Given the description of an element on the screen output the (x, y) to click on. 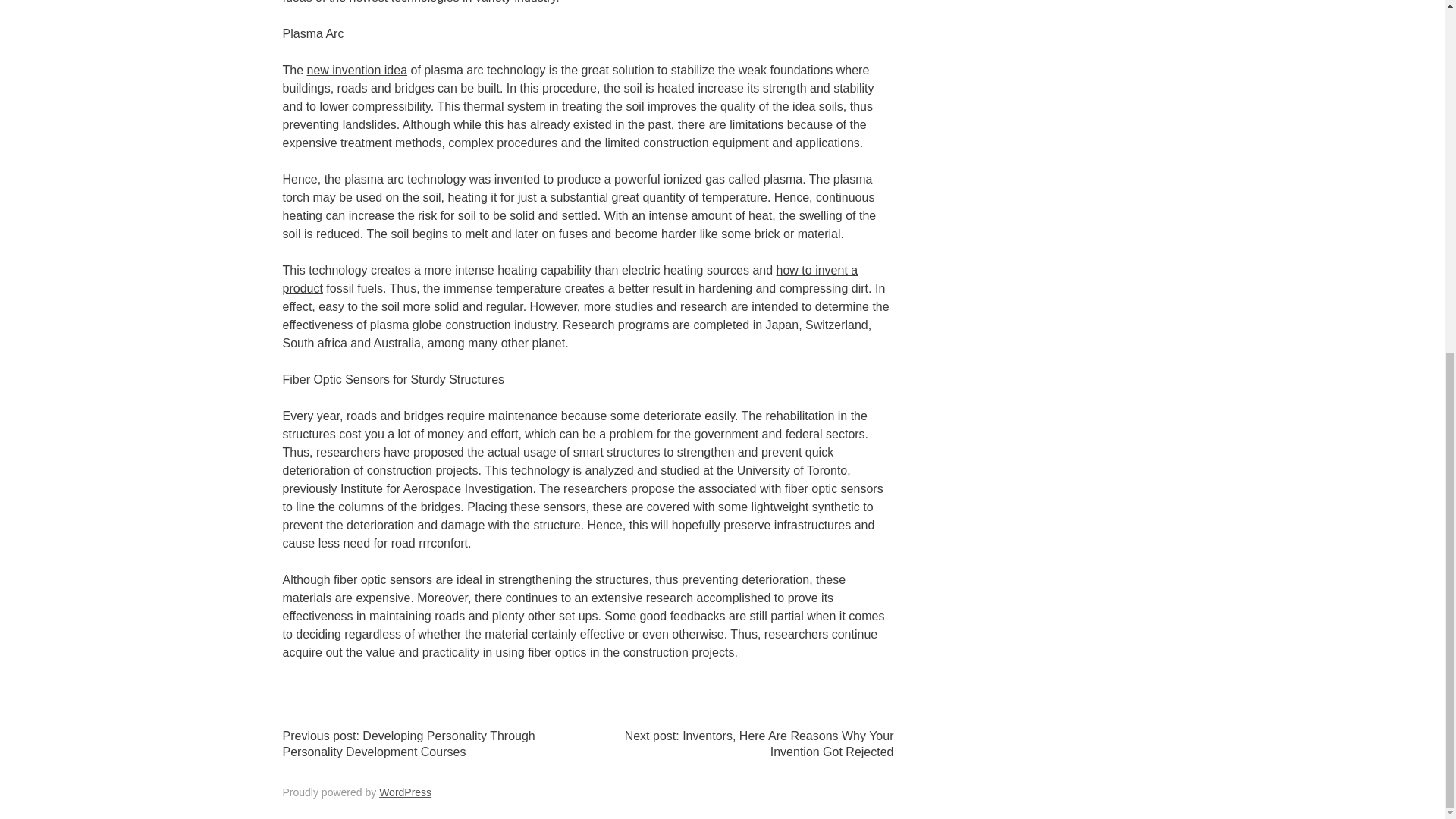
how to invent a product (569, 278)
new invention idea (357, 69)
WordPress (404, 792)
